Given the description of an element on the screen output the (x, y) to click on. 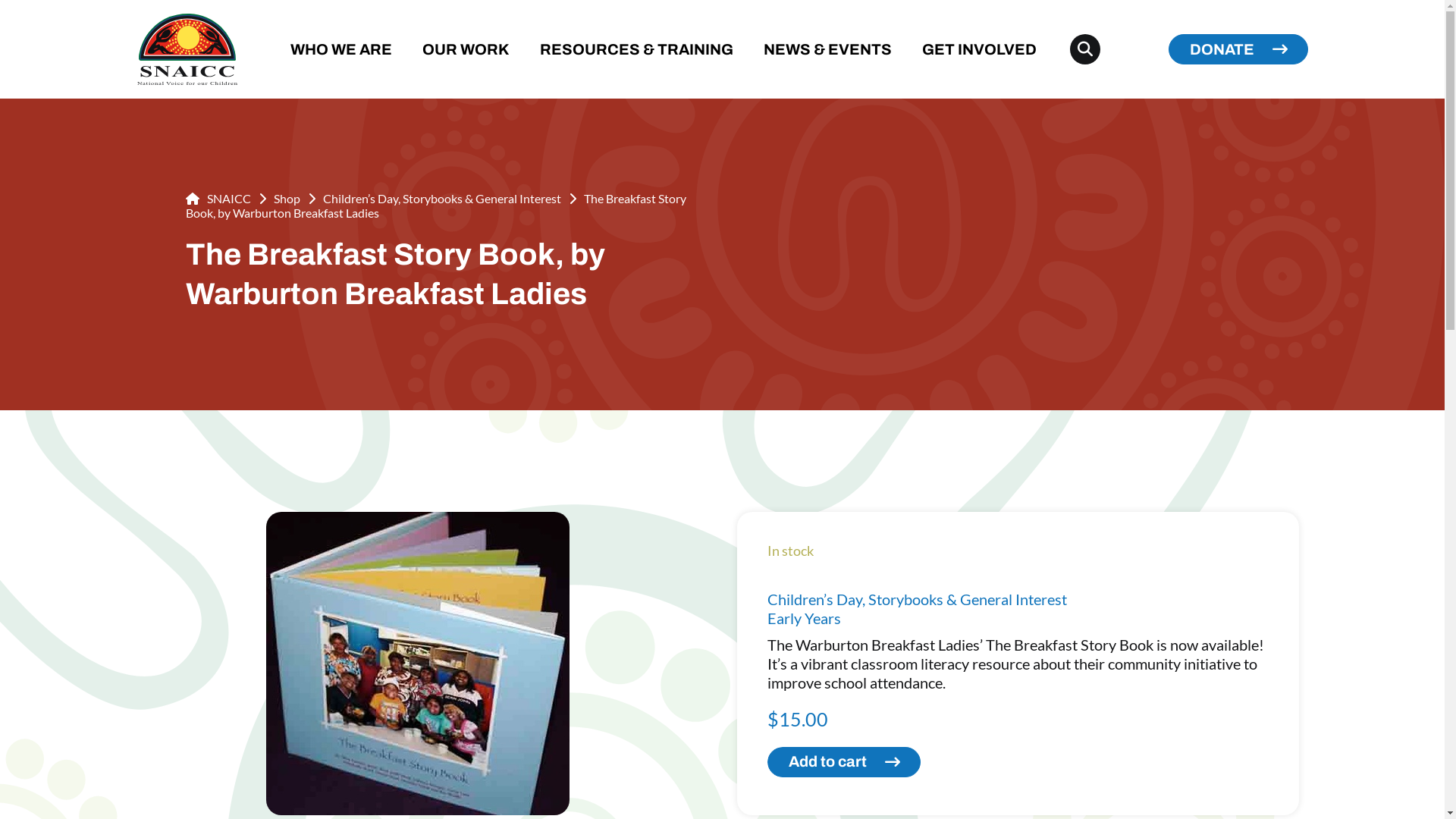
WHO WE ARE Element type: text (340, 49)
OUR WORK Element type: text (464, 49)
Shop Element type: text (286, 198)
SNAICC Element type: text (217, 198)
GET INVOLVED Element type: text (979, 49)
001764_adca Element type: hover (417, 663)
Early Years Element type: text (803, 617)
DONATE Element type: text (1237, 49)
RESOURCES & TRAINING Element type: text (636, 49)
Add to cart Element type: text (843, 761)
NEWS & EVENTS Element type: text (826, 49)
